Given the description of an element on the screen output the (x, y) to click on. 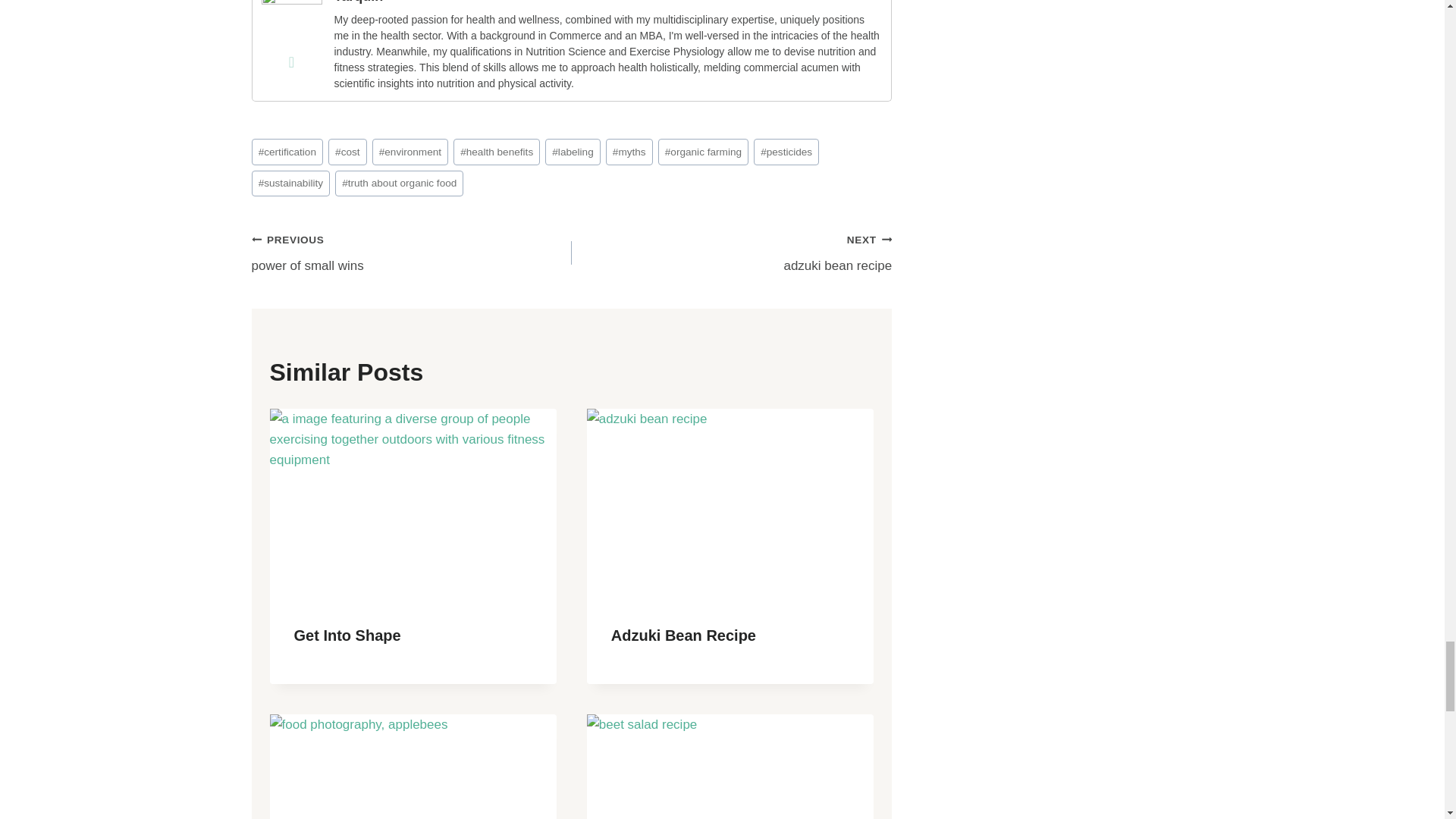
Tarquin (290, 24)
cost (347, 151)
labeling (571, 151)
certification (287, 151)
sustainability (290, 183)
organic farming (703, 151)
myths (628, 151)
health benefits (496, 151)
truth about organic food (398, 183)
environment (410, 151)
